Given the description of an element on the screen output the (x, y) to click on. 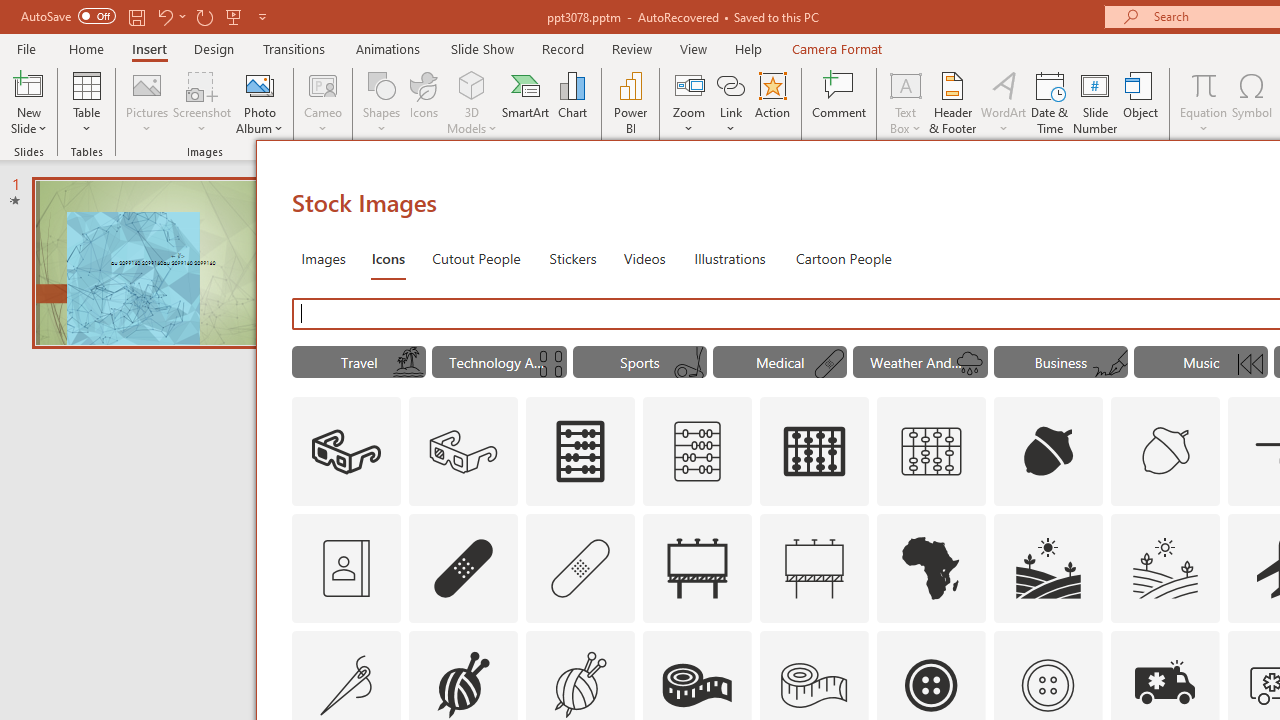
AutomationID: Icons_Acorn (1048, 452)
AutomationID: Icons_Abacus (580, 452)
AutomationID: Icons_Agriculture_M (1165, 568)
AutomationID: Icons_Signature_LTR_M (1109, 364)
Draw Horizontal Text Box (905, 84)
Table (86, 102)
Icons (424, 102)
AutomationID: Icons_Rain_M (970, 364)
"Medical" Icons. (779, 362)
